Given the description of an element on the screen output the (x, y) to click on. 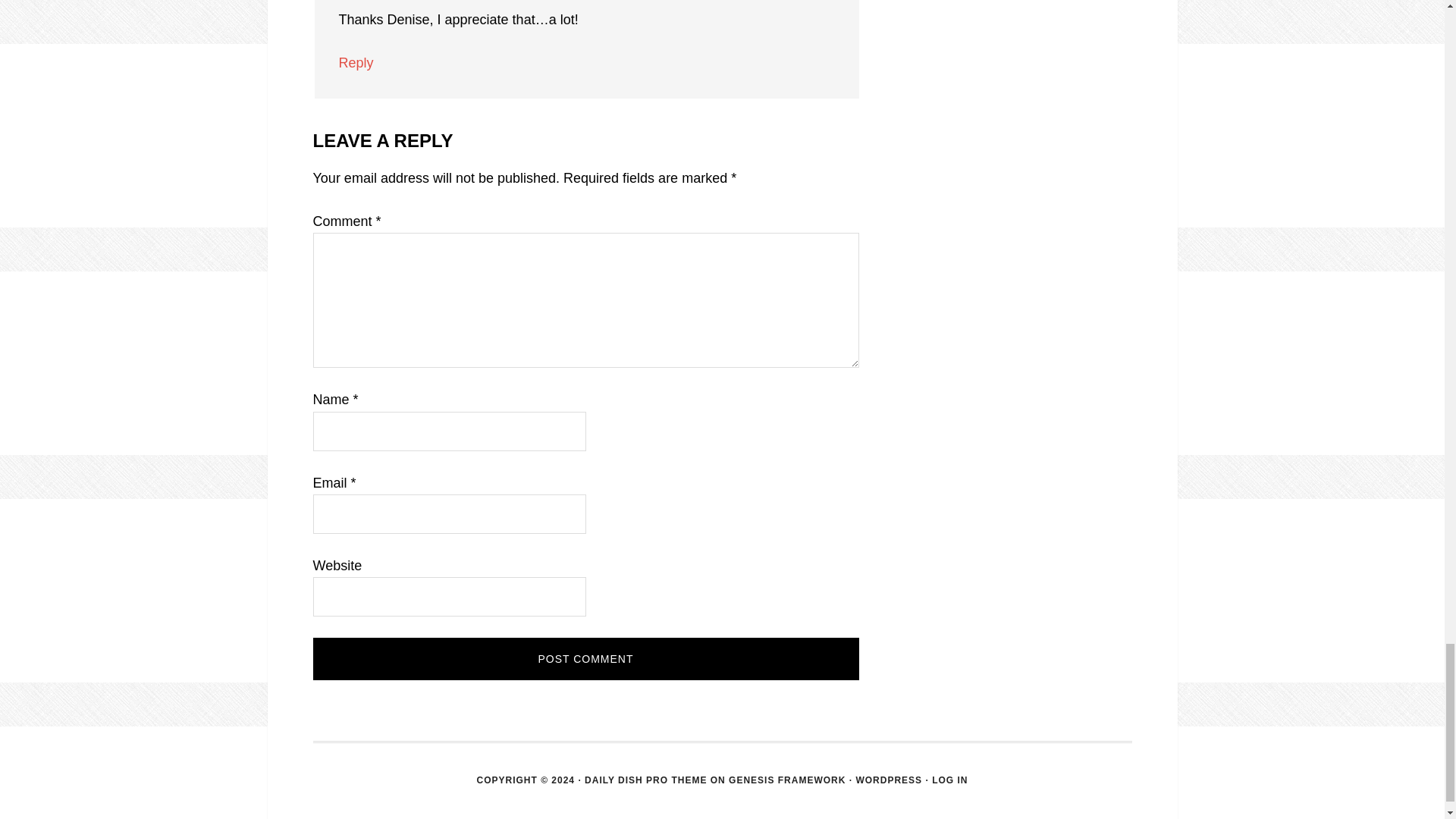
WORDPRESS (888, 779)
Post Comment (586, 659)
Post Comment (586, 659)
Reply (354, 62)
DAILY DISH PRO THEME (645, 779)
GENESIS FRAMEWORK (787, 779)
LOG IN (949, 779)
